Given the description of an element on the screen output the (x, y) to click on. 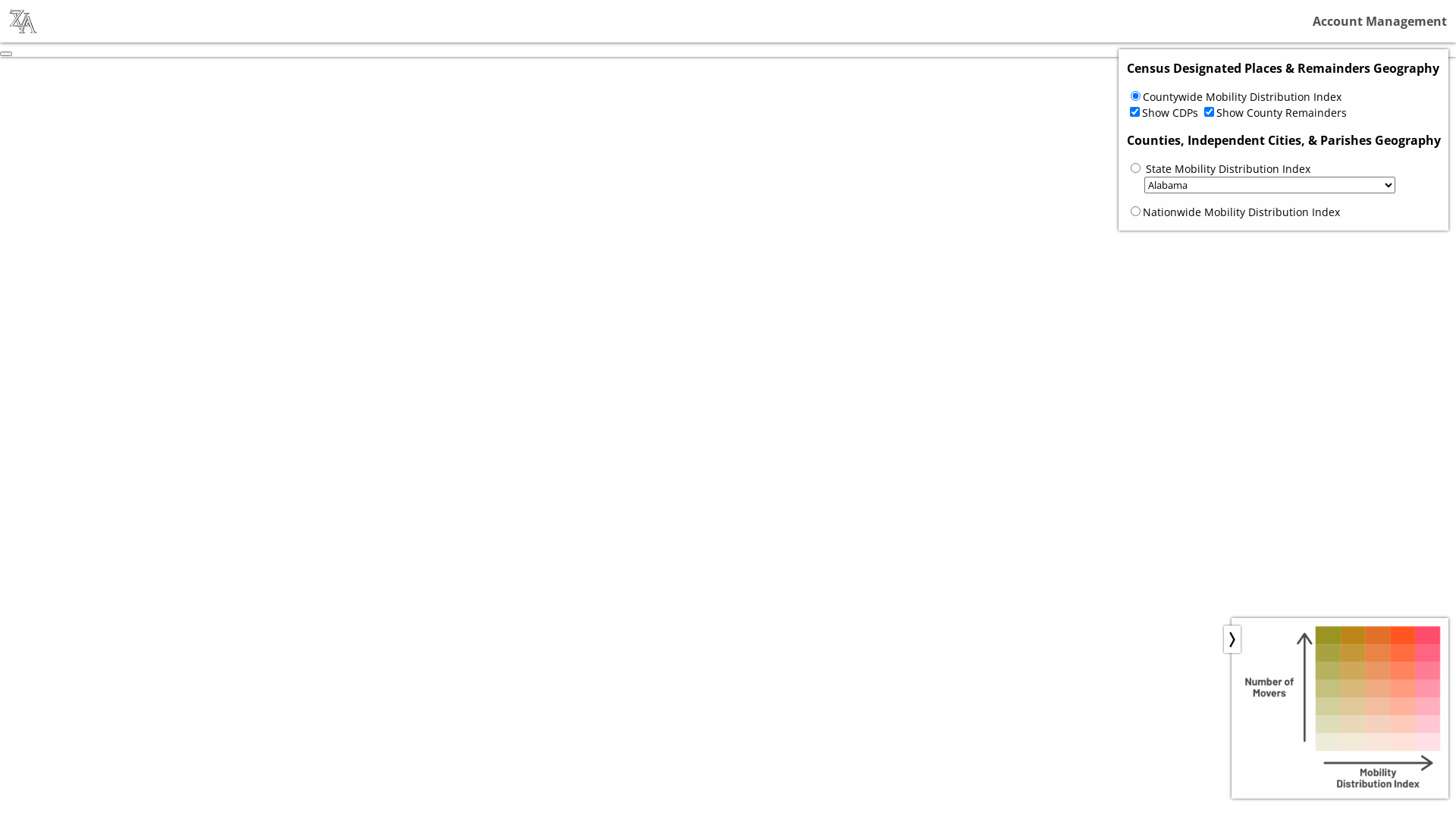
Account Management Element type: text (1379, 20)
